Given the description of an element on the screen output the (x, y) to click on. 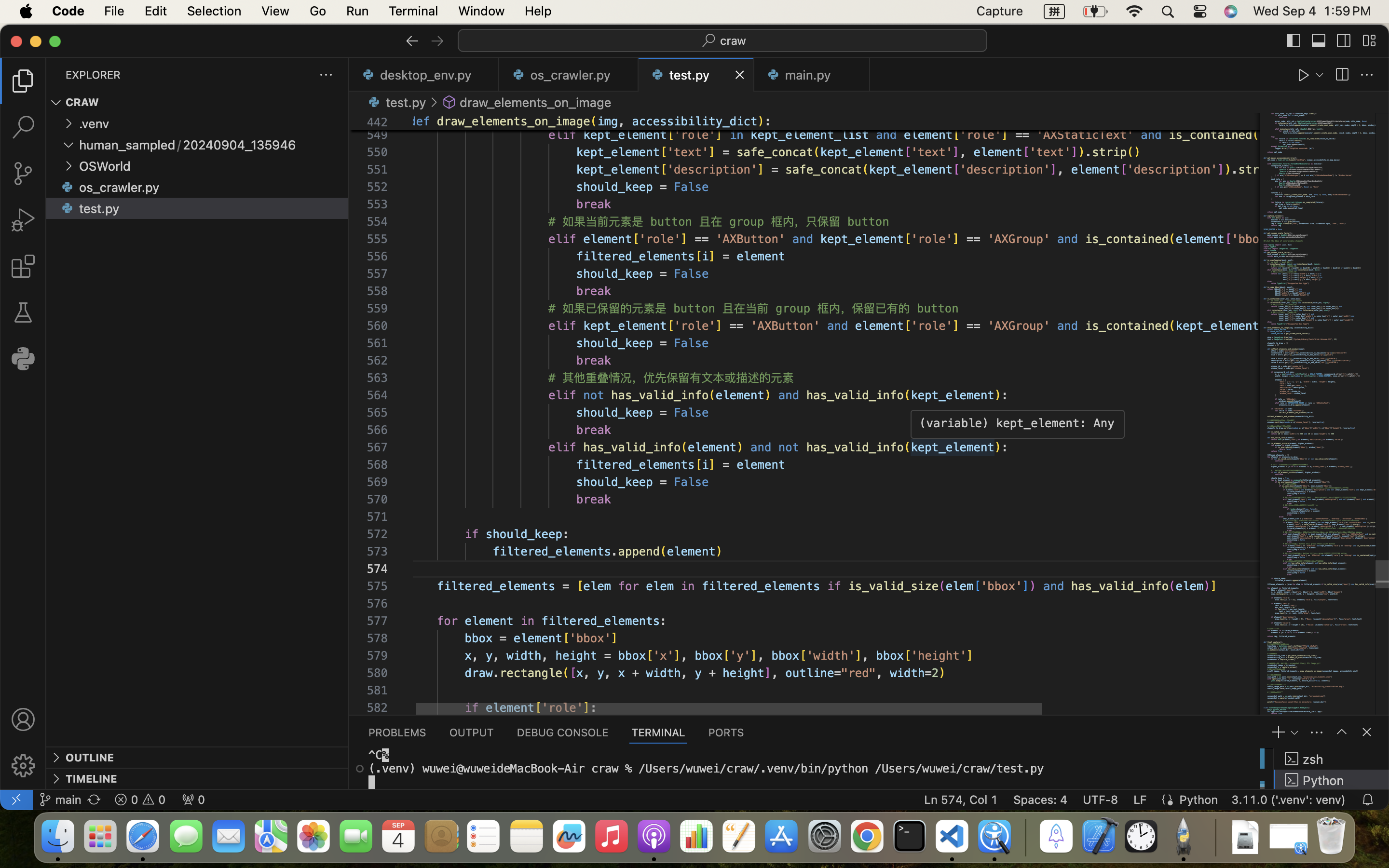
 Element type: AXGroup (23, 266)
def Element type: AXStaticText (421, 121)
OSWorld Element type: AXStaticText (105, 166)
0.4285714328289032 Element type: AXDockItem (1024, 836)
0 PROBLEMS Element type: AXRadioButton (396, 731)
